Given the description of an element on the screen output the (x, y) to click on. 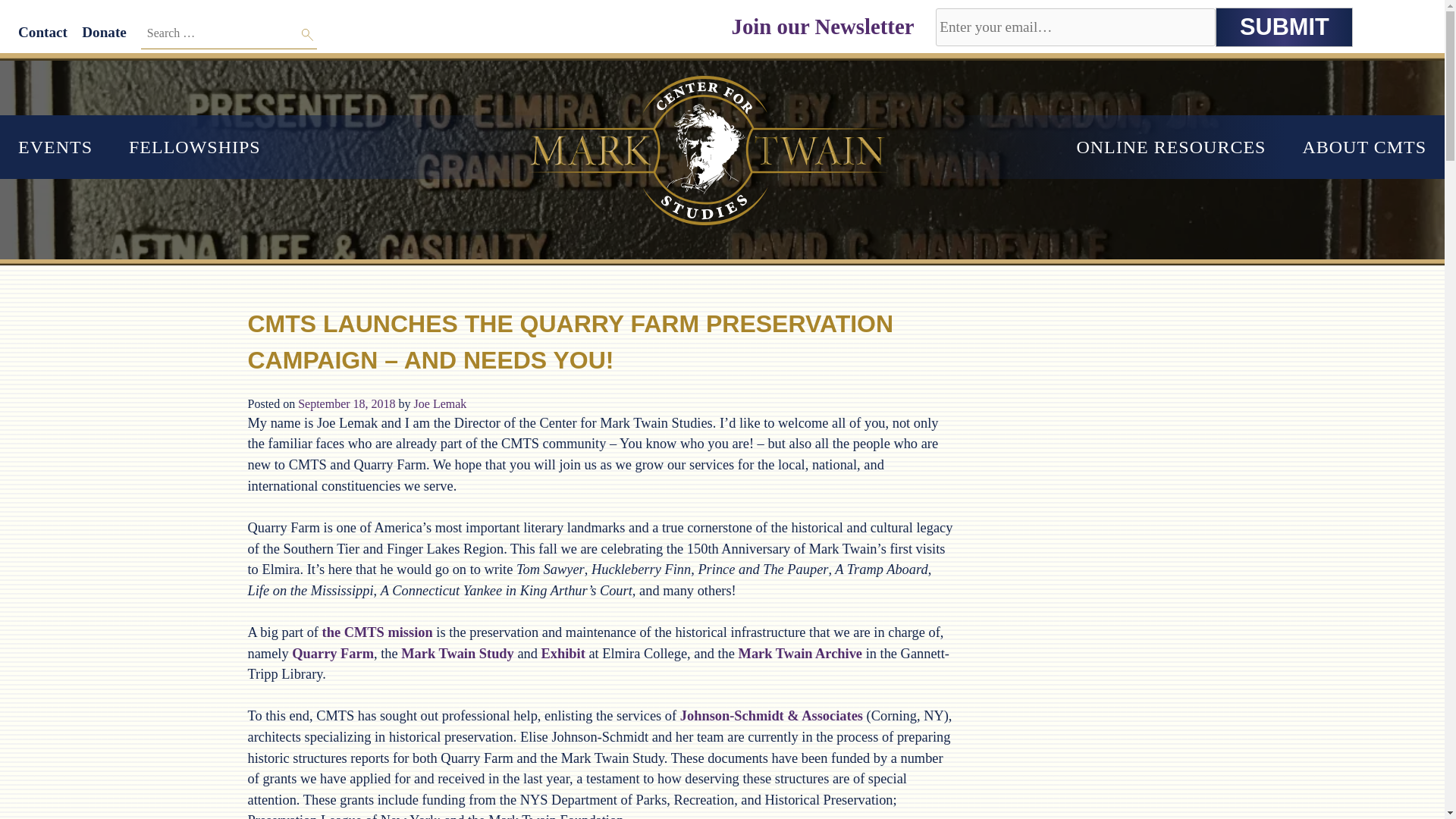
ONLINE RESOURCES (1171, 147)
Contact (41, 32)
EVENTS (55, 147)
Donate (103, 32)
Search (307, 34)
Submit (1283, 26)
Submit (1283, 26)
Center for Mark Twain Studies (75, 69)
FELLOWSHIPS (194, 147)
